Given the description of an element on the screen output the (x, y) to click on. 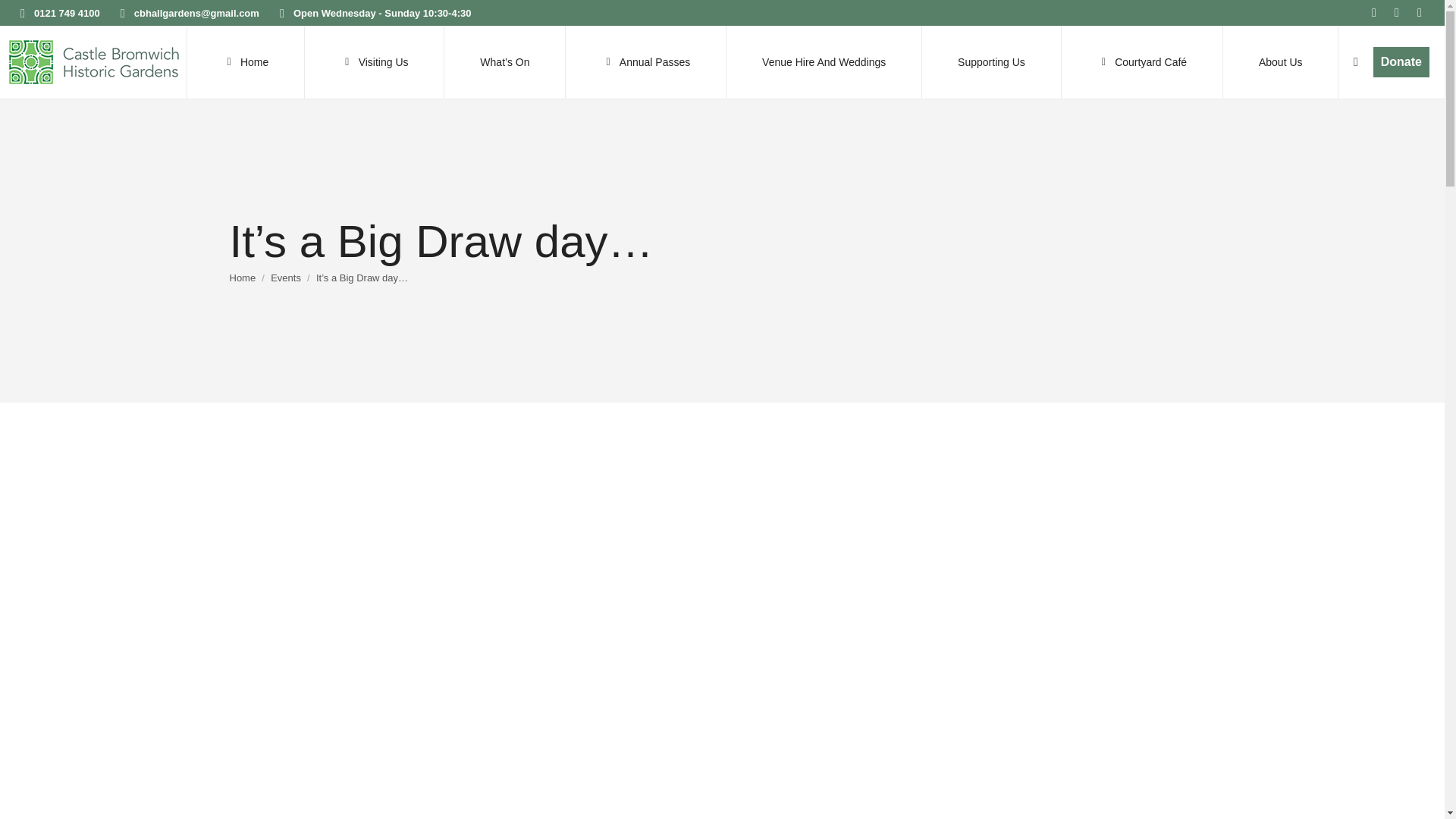
Instagram page opens in new window (1419, 12)
Events (285, 276)
Instagram page opens in new window (1419, 12)
Venue Hire And Weddings (823, 61)
About Us (1280, 61)
Annual Passes (646, 61)
Home (242, 276)
Donate (1401, 61)
X page opens in new window (1396, 12)
Facebook page opens in new window (1374, 12)
